Given the description of an element on the screen output the (x, y) to click on. 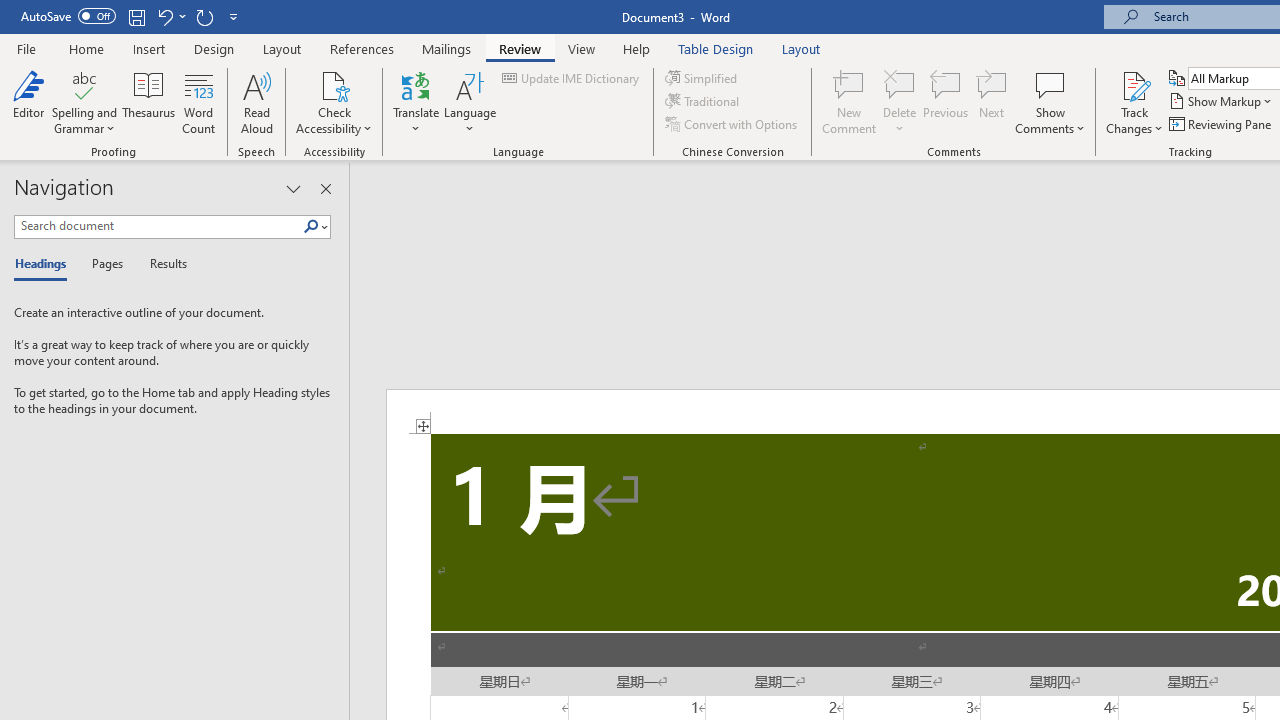
Read Aloud (256, 102)
Simplified (702, 78)
Undo Increase Indent (164, 15)
Thesaurus... (148, 102)
Next (991, 102)
Spelling and Grammar (84, 102)
Language (470, 102)
